Given the description of an element on the screen output the (x, y) to click on. 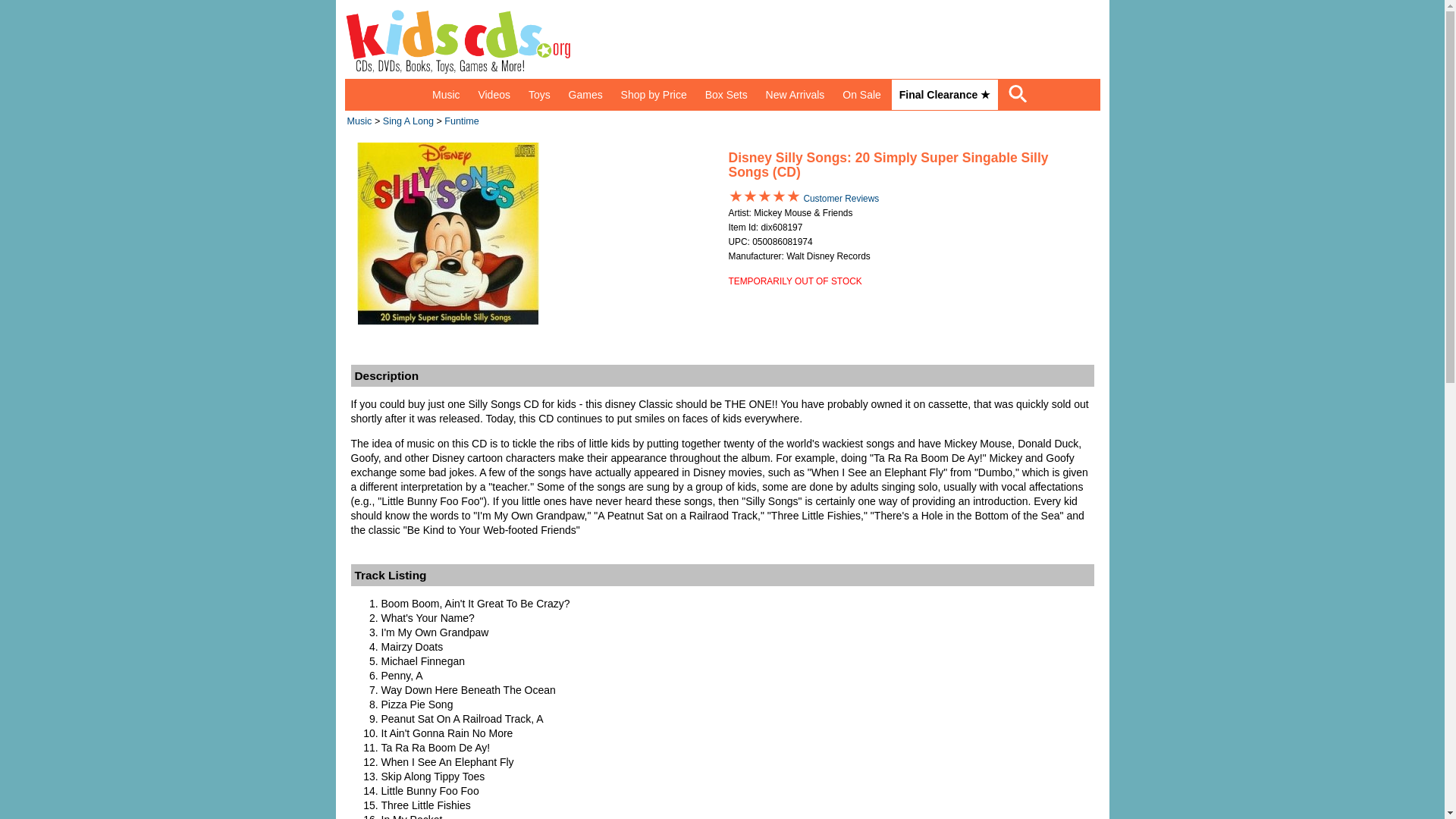
Games (585, 94)
Videos (494, 94)
Music (446, 94)
New Arrivals (795, 94)
Customer Reviews (841, 198)
Funtime (461, 121)
Music (359, 121)
On Sale (861, 94)
Box Sets (726, 94)
Toys (539, 94)
Sing A Long (407, 121)
Shop by Price (653, 94)
